Given the description of an element on the screen output the (x, y) to click on. 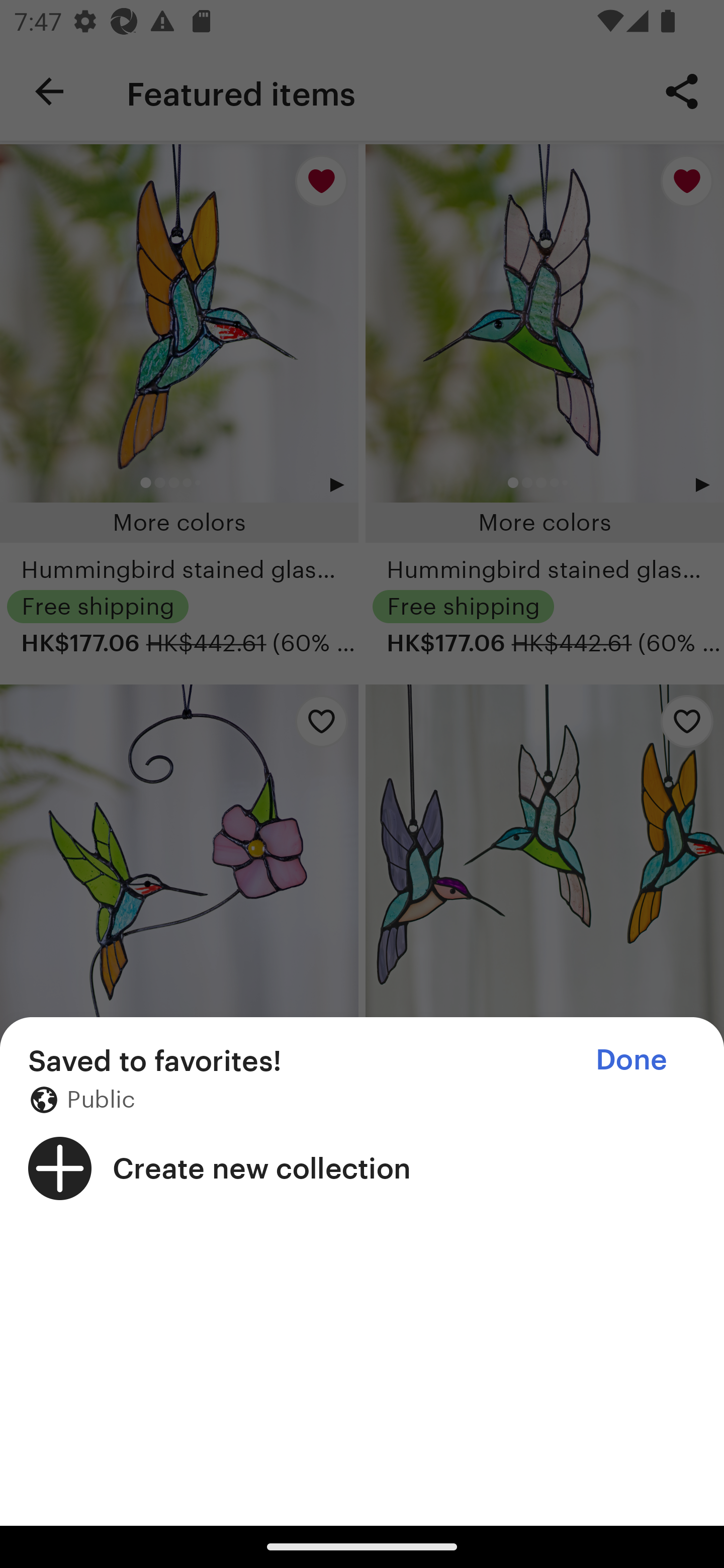
Done (630, 1059)
Create new collection (361, 1167)
